Given the description of an element on the screen output the (x, y) to click on. 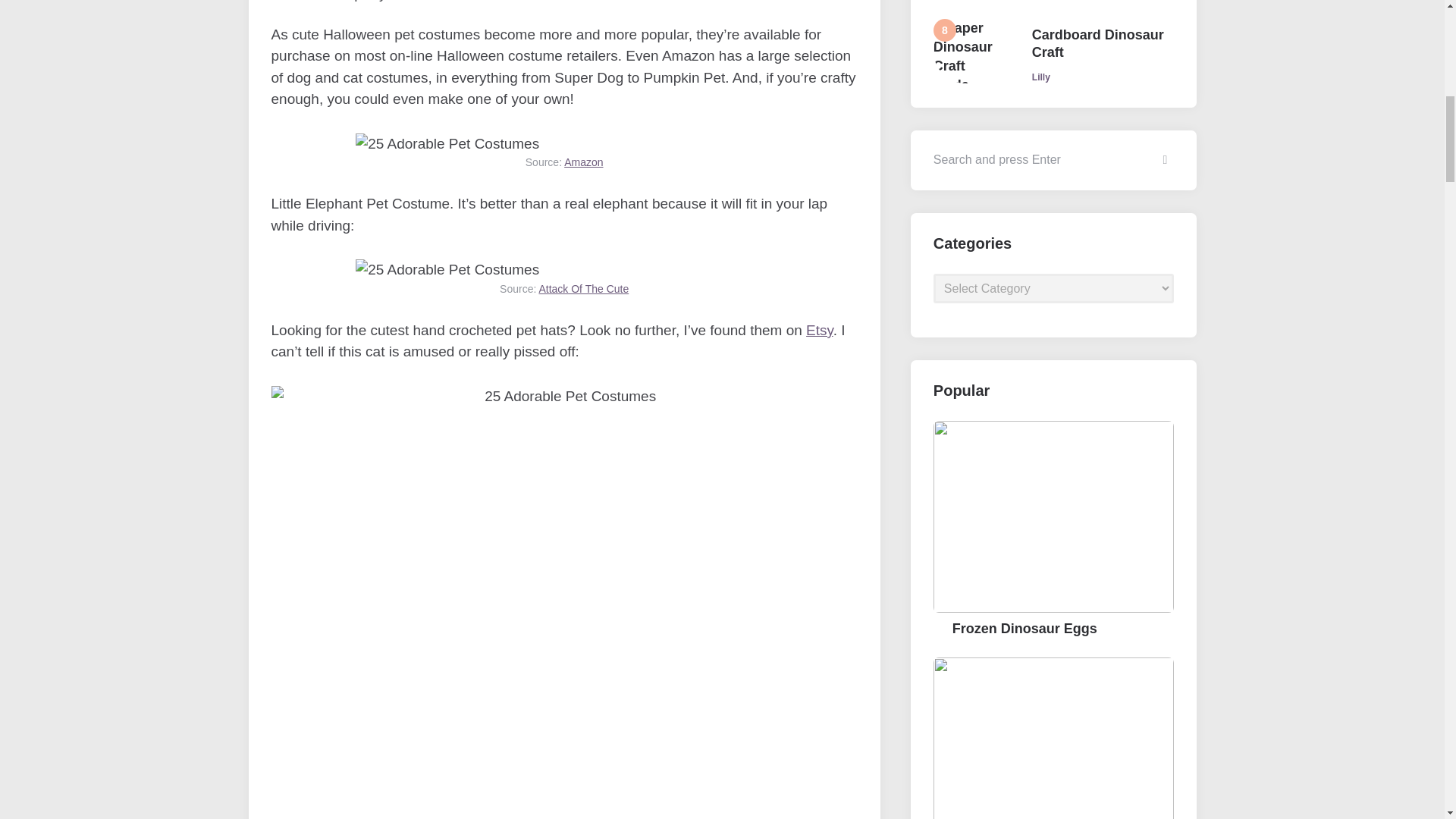
Cute Costumes For A Dog (446, 270)
Cute Pet Costumes (446, 144)
